Given the description of an element on the screen output the (x, y) to click on. 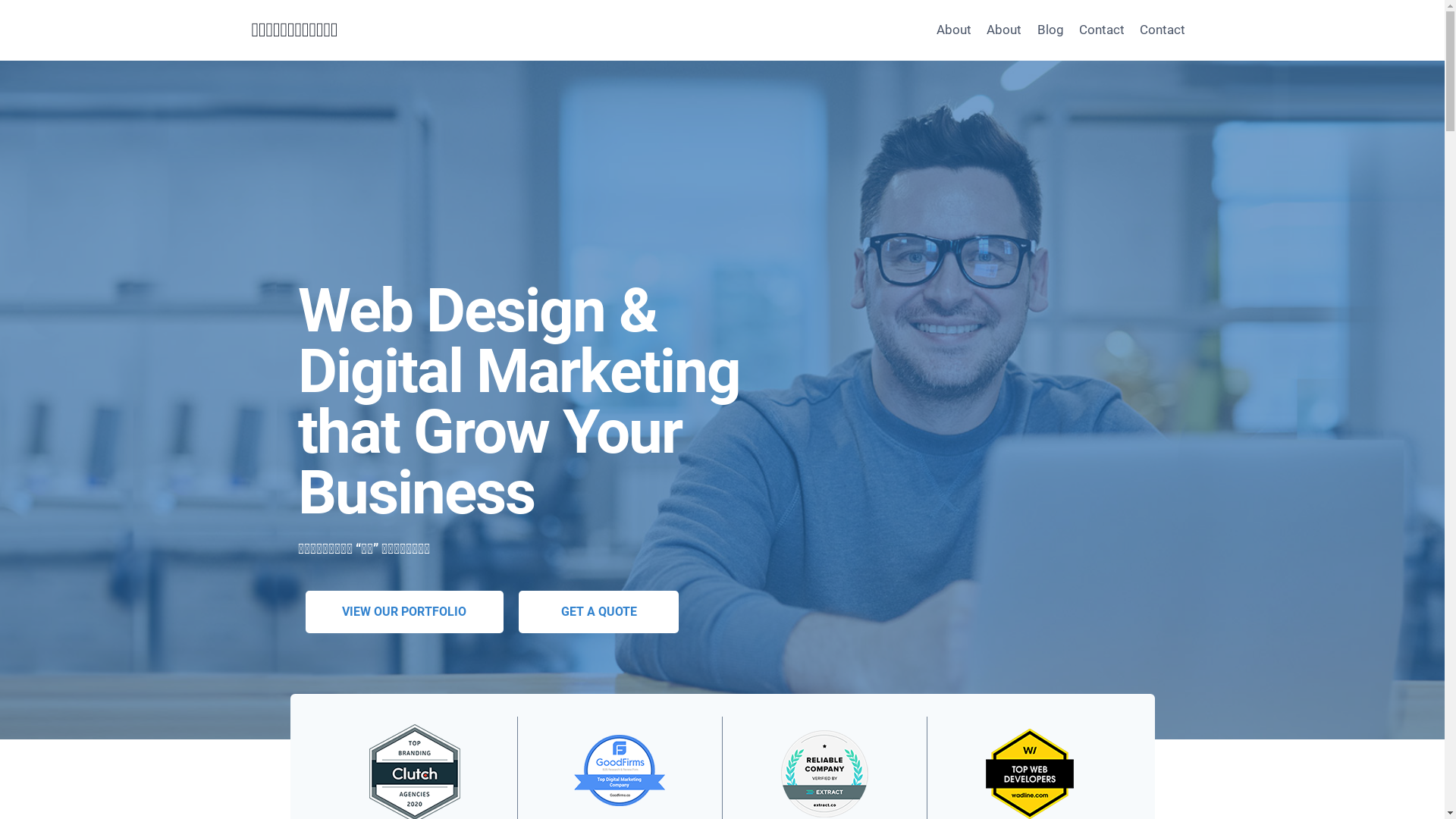
About Element type: text (1004, 30)
About Element type: text (953, 30)
GET A QUOTE Element type: text (598, 611)
VIEW OUR PORTFOLIO Element type: text (403, 611)
Blog Element type: text (1049, 30)
Contact Element type: text (1101, 30)
Contact Element type: text (1162, 30)
